Given the description of an element on the screen output the (x, y) to click on. 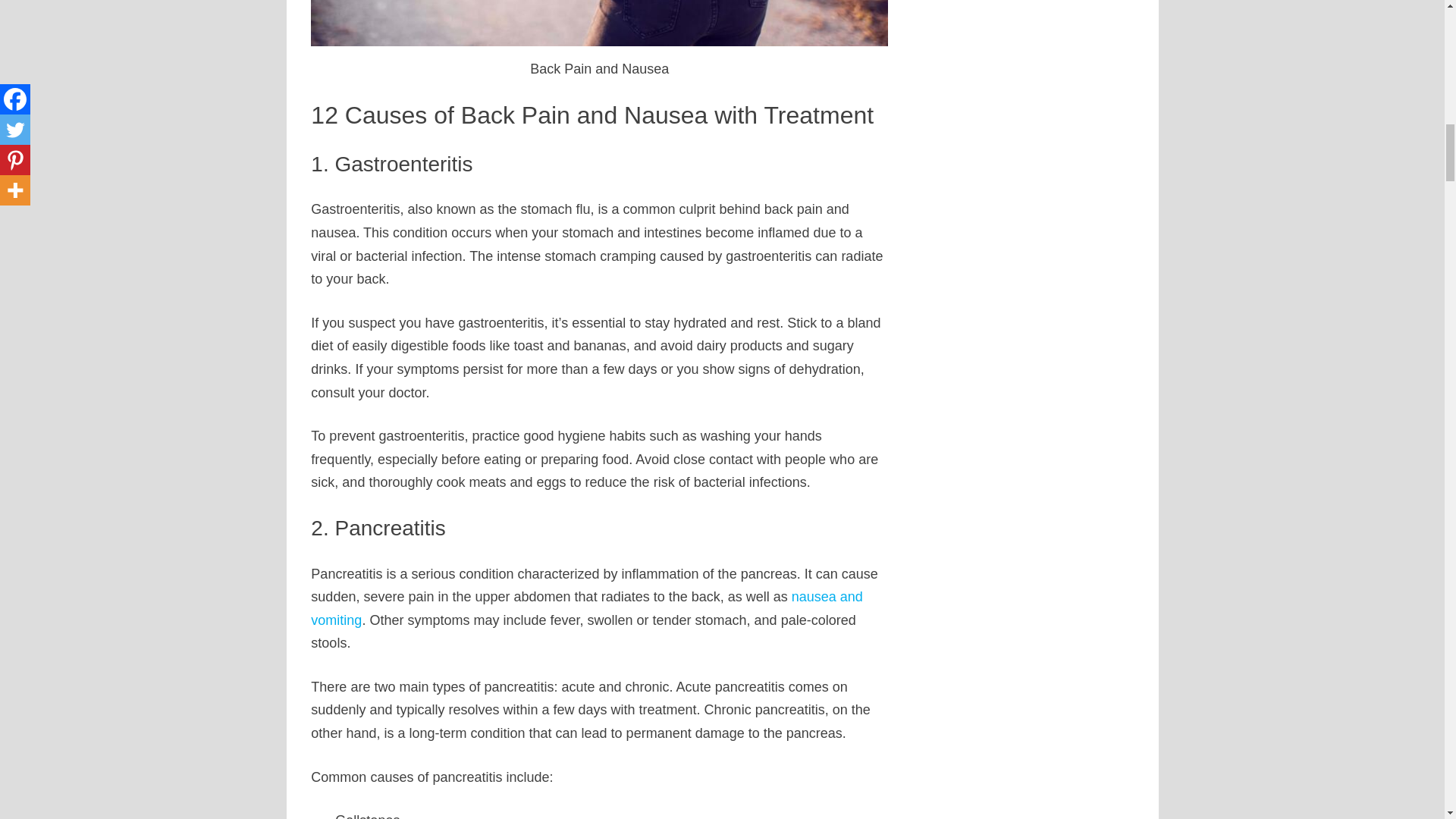
nausea and vomiting (587, 608)
